Given the description of an element on the screen output the (x, y) to click on. 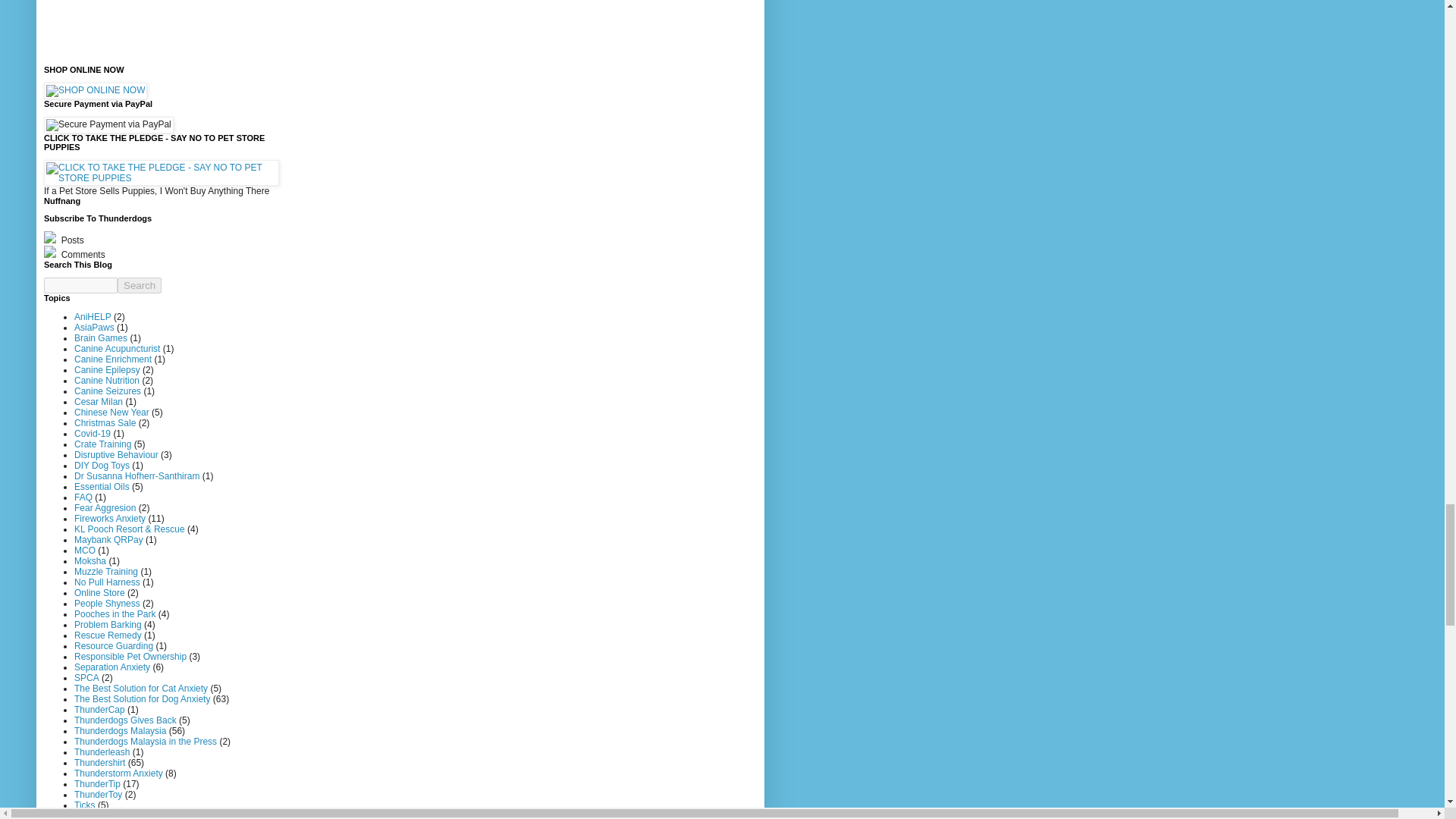
search (80, 285)
search (139, 285)
Search (139, 285)
Search (139, 285)
